Given the description of an element on the screen output the (x, y) to click on. 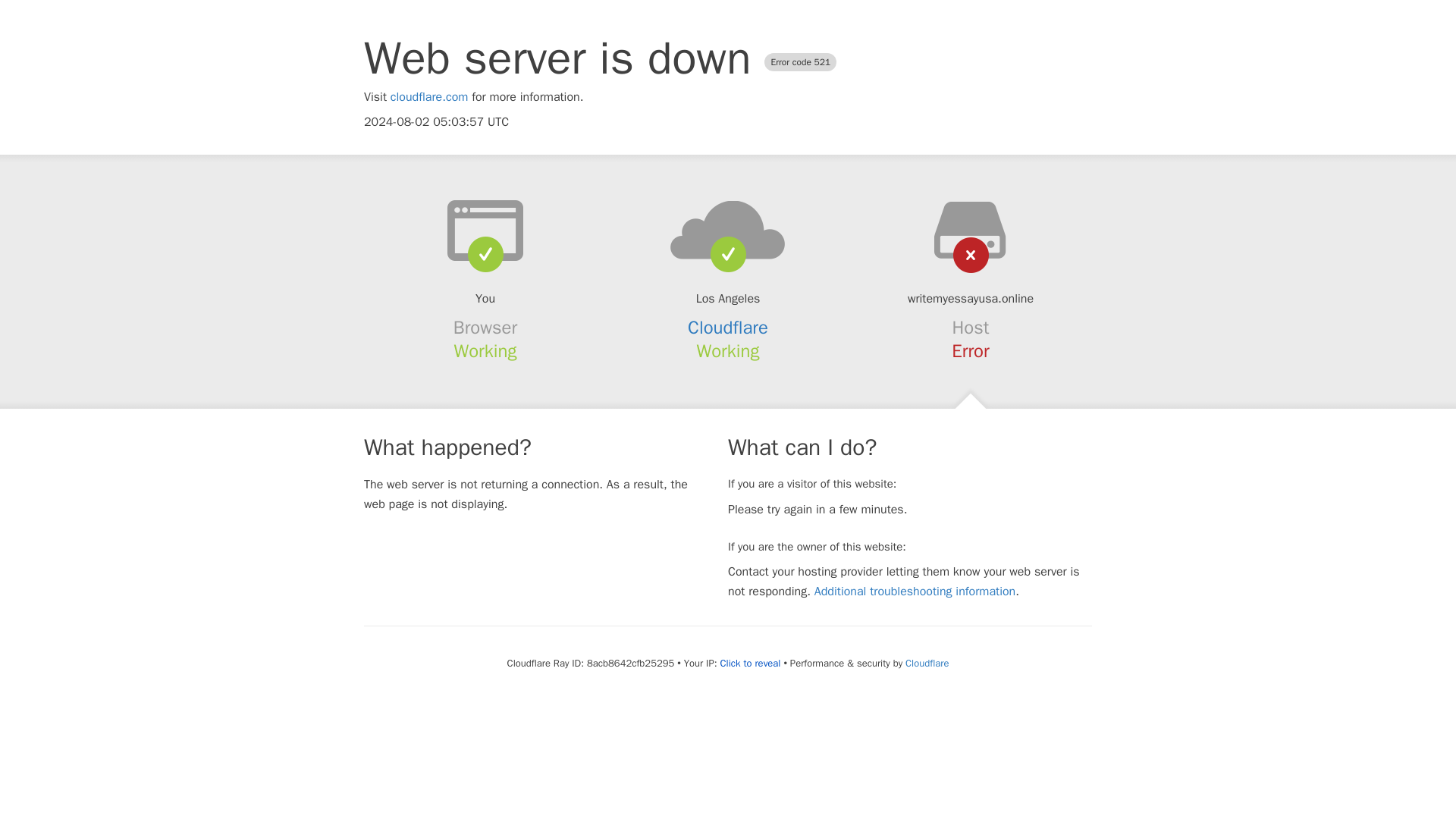
Cloudflare (727, 327)
Cloudflare (927, 662)
cloudflare.com (429, 96)
Click to reveal (750, 663)
Additional troubleshooting information (913, 590)
